Given the description of an element on the screen output the (x, y) to click on. 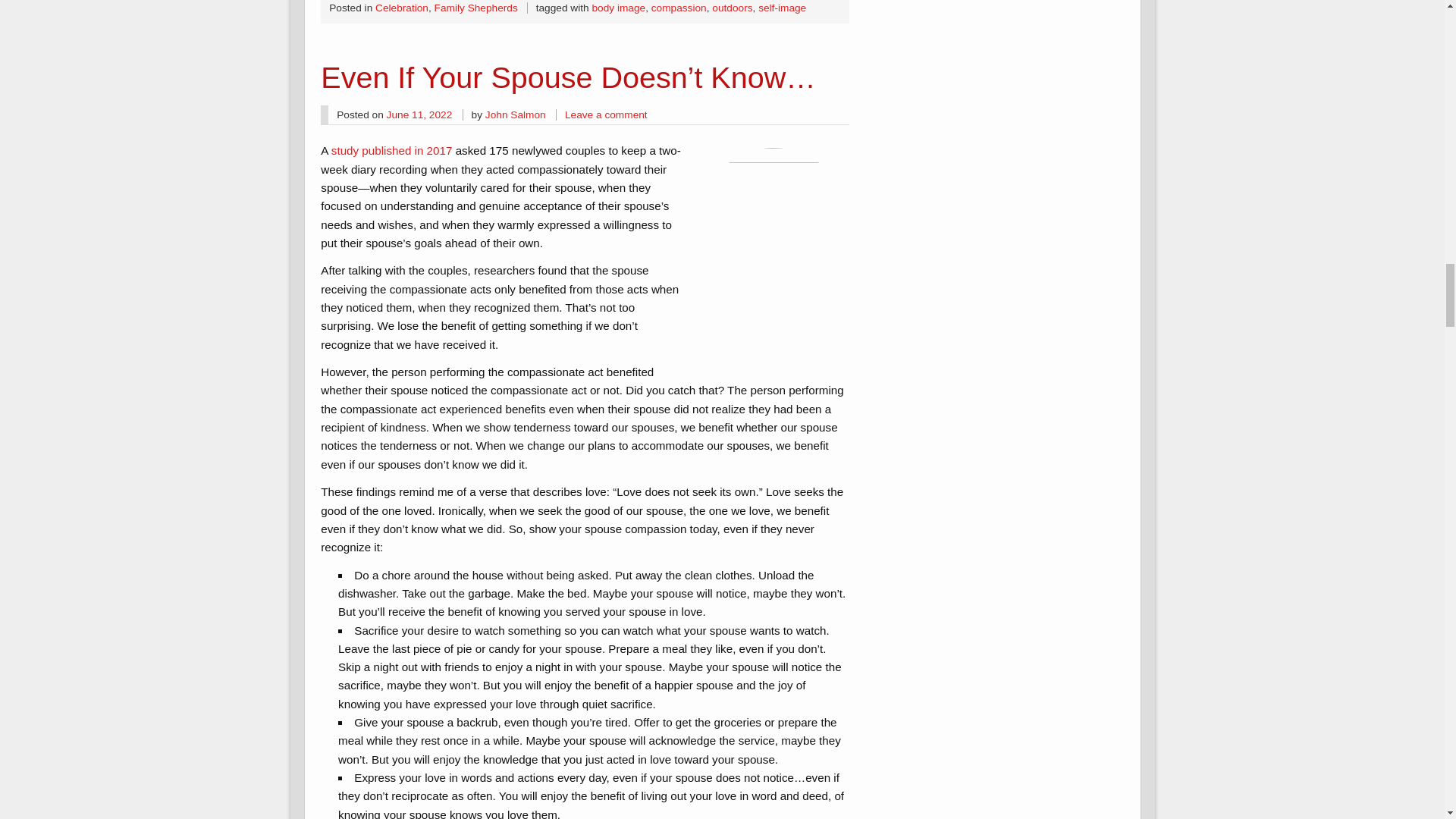
8:00 pm (419, 114)
View all posts by John Salmon (515, 114)
